Given the description of an element on the screen output the (x, y) to click on. 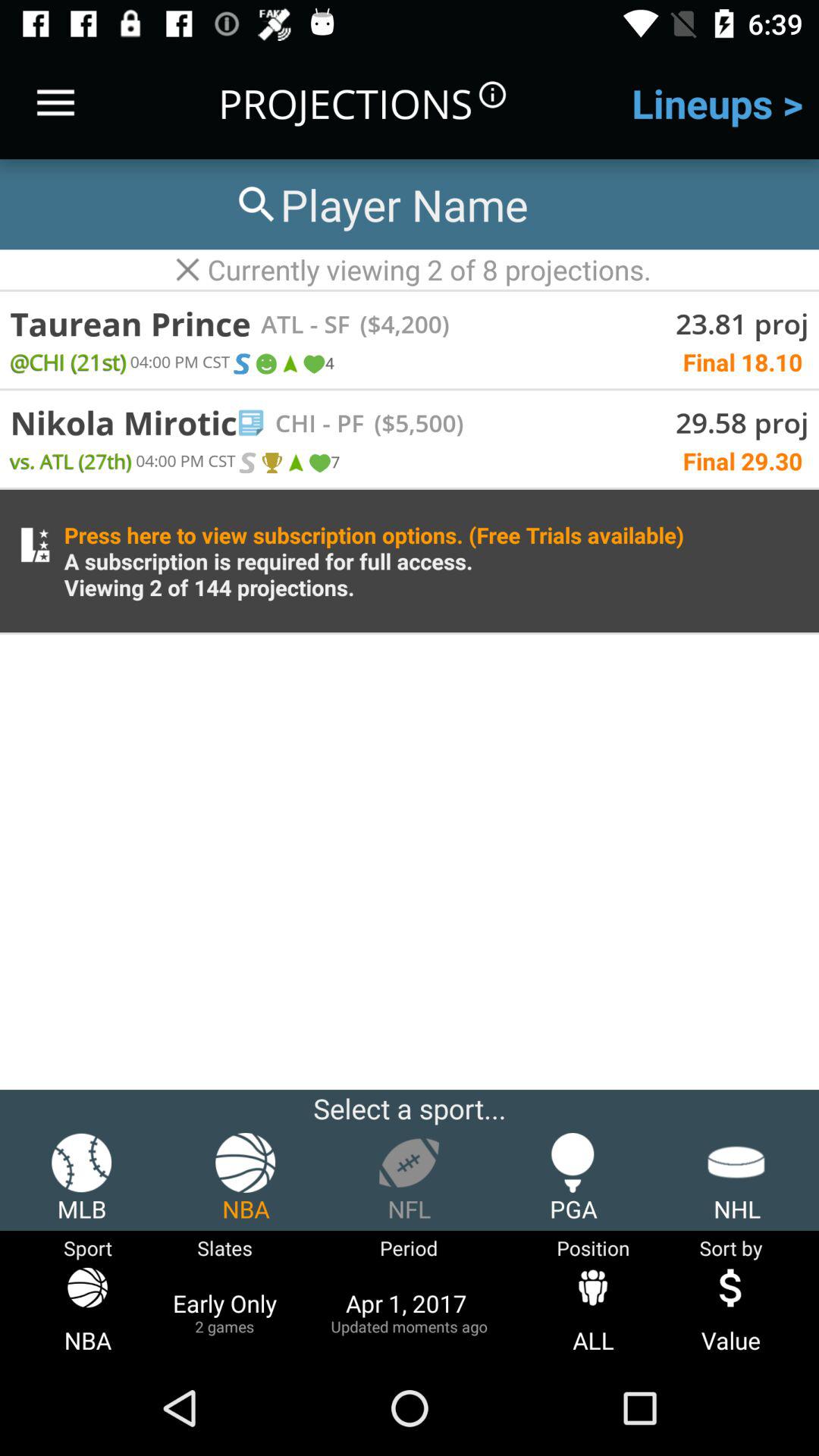
launch the icon next to the projections item (55, 103)
